Given the description of an element on the screen output the (x, y) to click on. 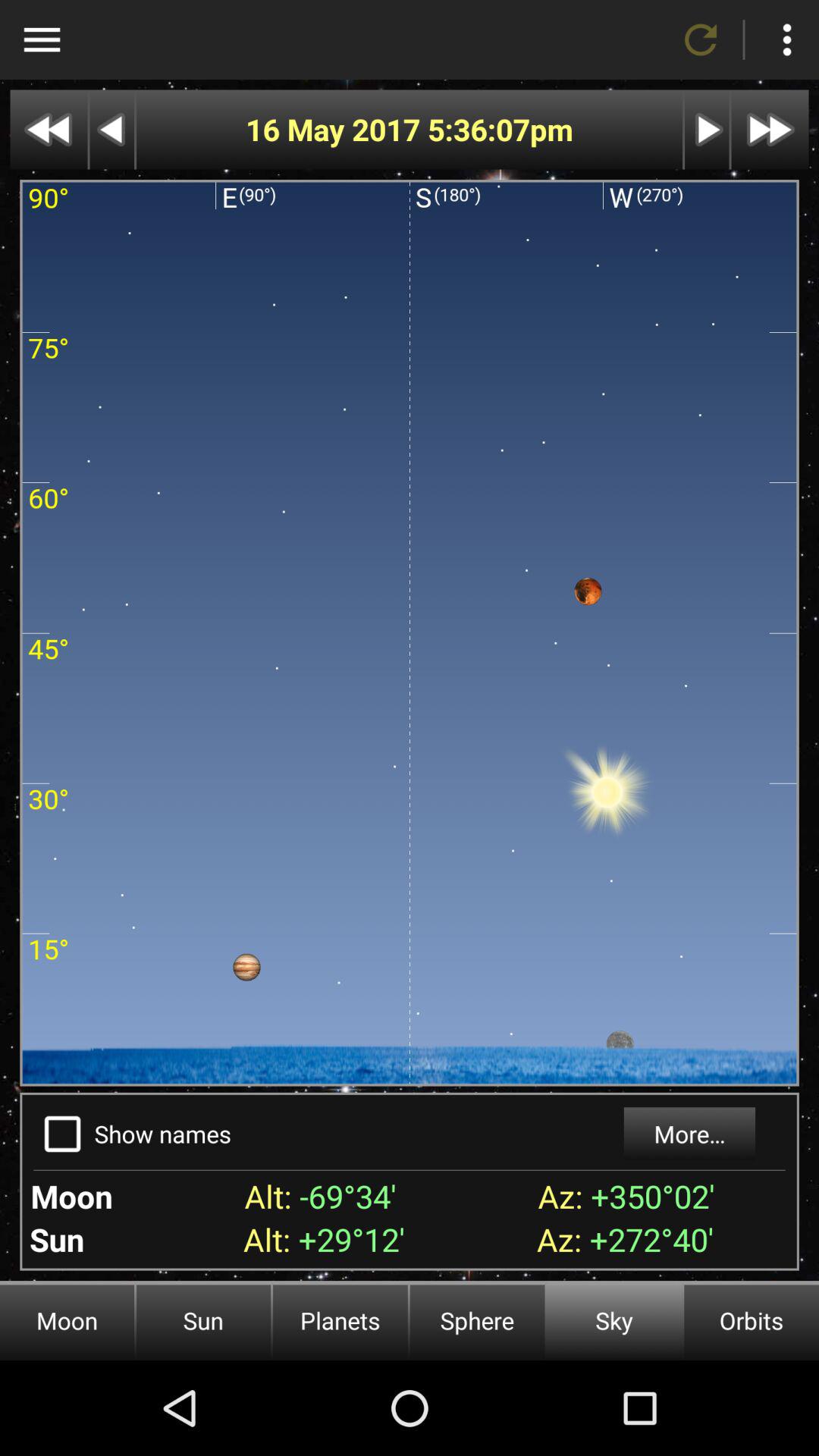
toggle menu curtain (41, 39)
